Given the description of an element on the screen output the (x, y) to click on. 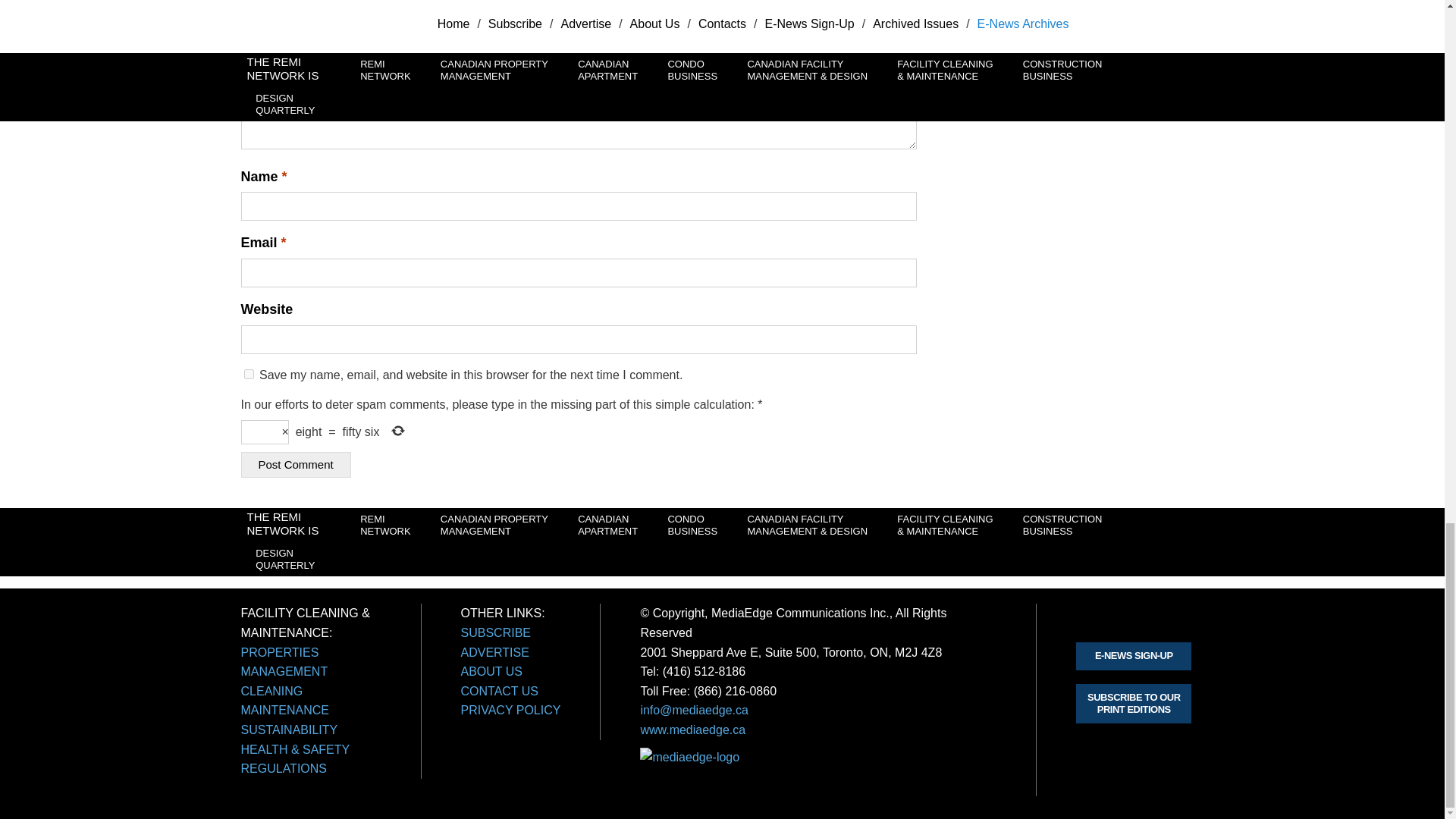
yes (248, 374)
Post Comment (295, 465)
